Given the description of an element on the screen output the (x, y) to click on. 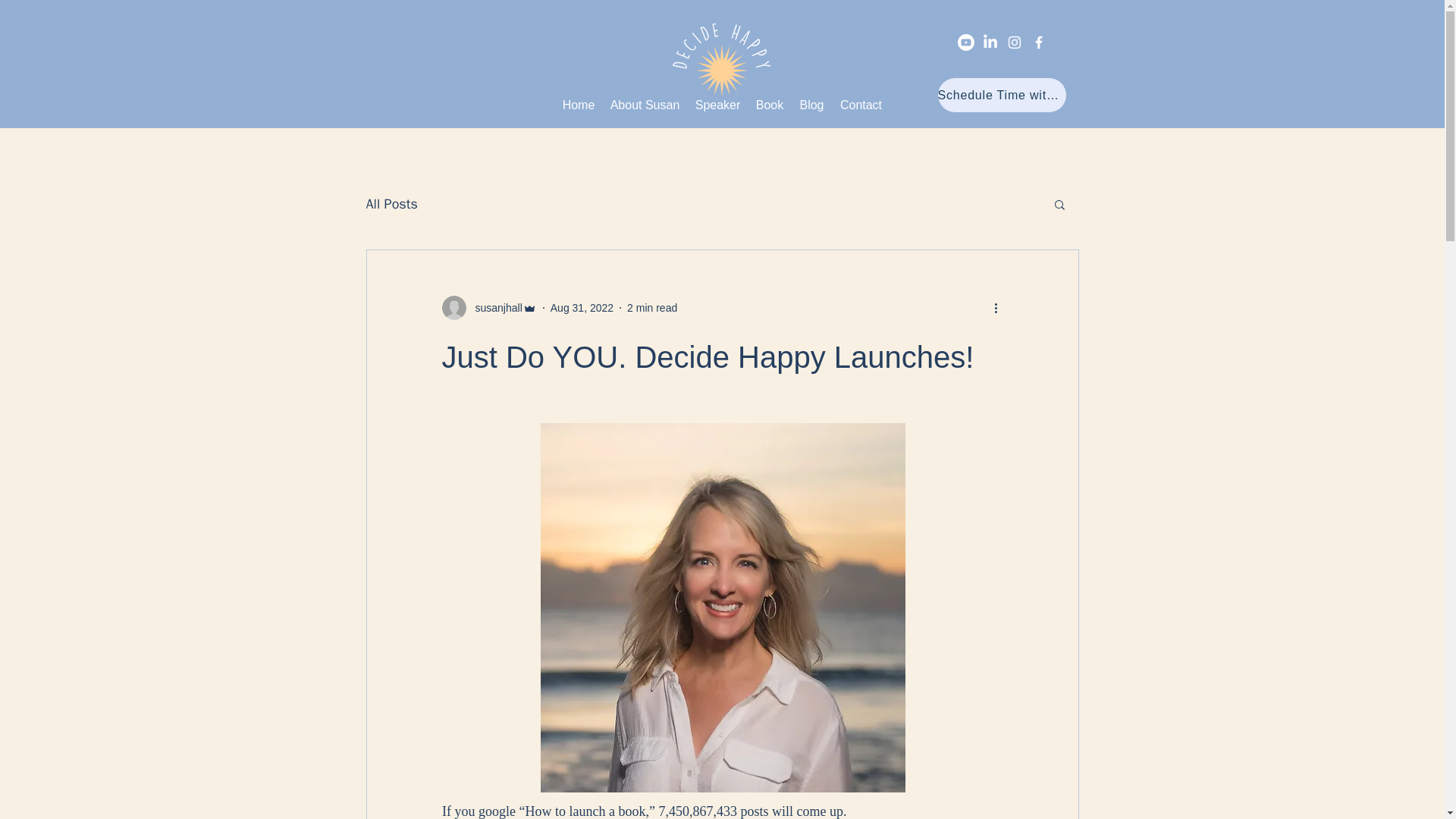
Schedule Time with Susan! (1001, 94)
Contact (860, 104)
About Susan (644, 104)
susanjhall (488, 307)
Aug 31, 2022 (581, 307)
Speaker (717, 104)
2 min read (652, 307)
Blog (812, 104)
Home (578, 104)
susanjhall (493, 308)
